Given the description of an element on the screen output the (x, y) to click on. 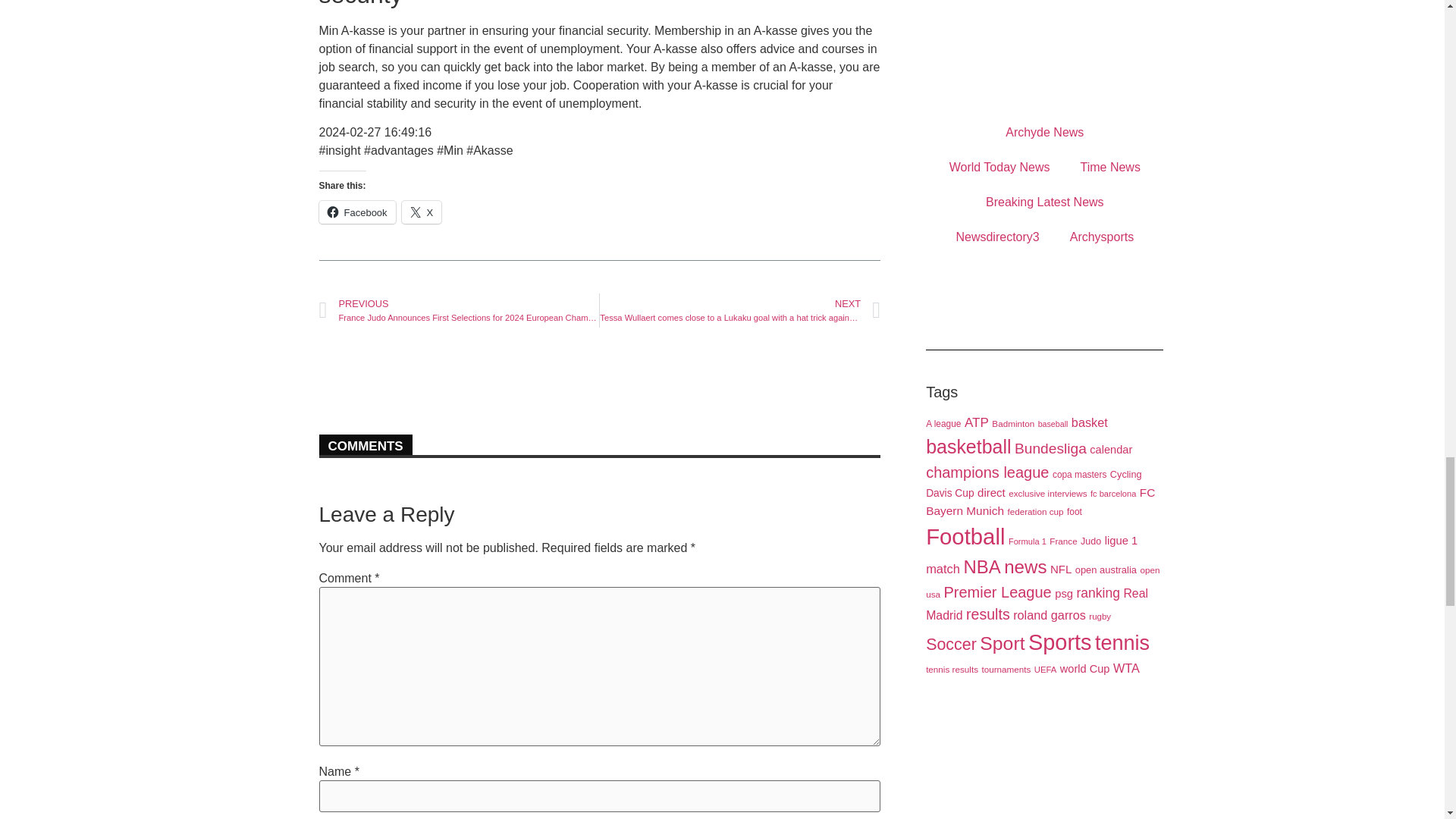
Click to share on Facebook (356, 211)
Click to share on X (421, 211)
